Given the description of an element on the screen output the (x, y) to click on. 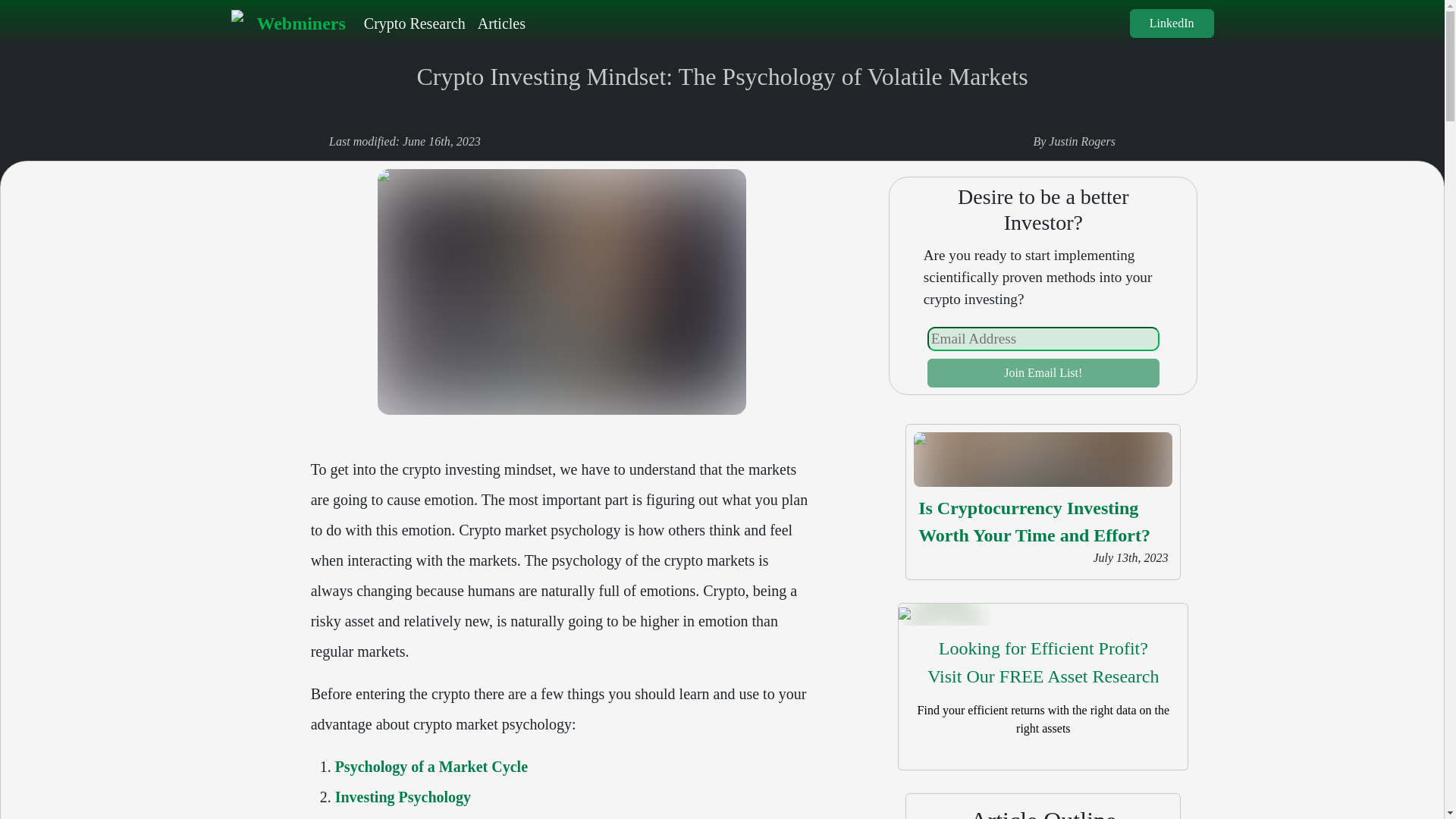
Crypto Research (414, 22)
Articles (501, 22)
Is Cryptocurrency Investing Worth Your Time and Effort? (1034, 521)
Psychology of a Market Cycle (1043, 662)
LinkedIn (430, 766)
Webminers (1171, 23)
Join Email List! (287, 22)
Investing Psychology (1042, 372)
